Given the description of an element on the screen output the (x, y) to click on. 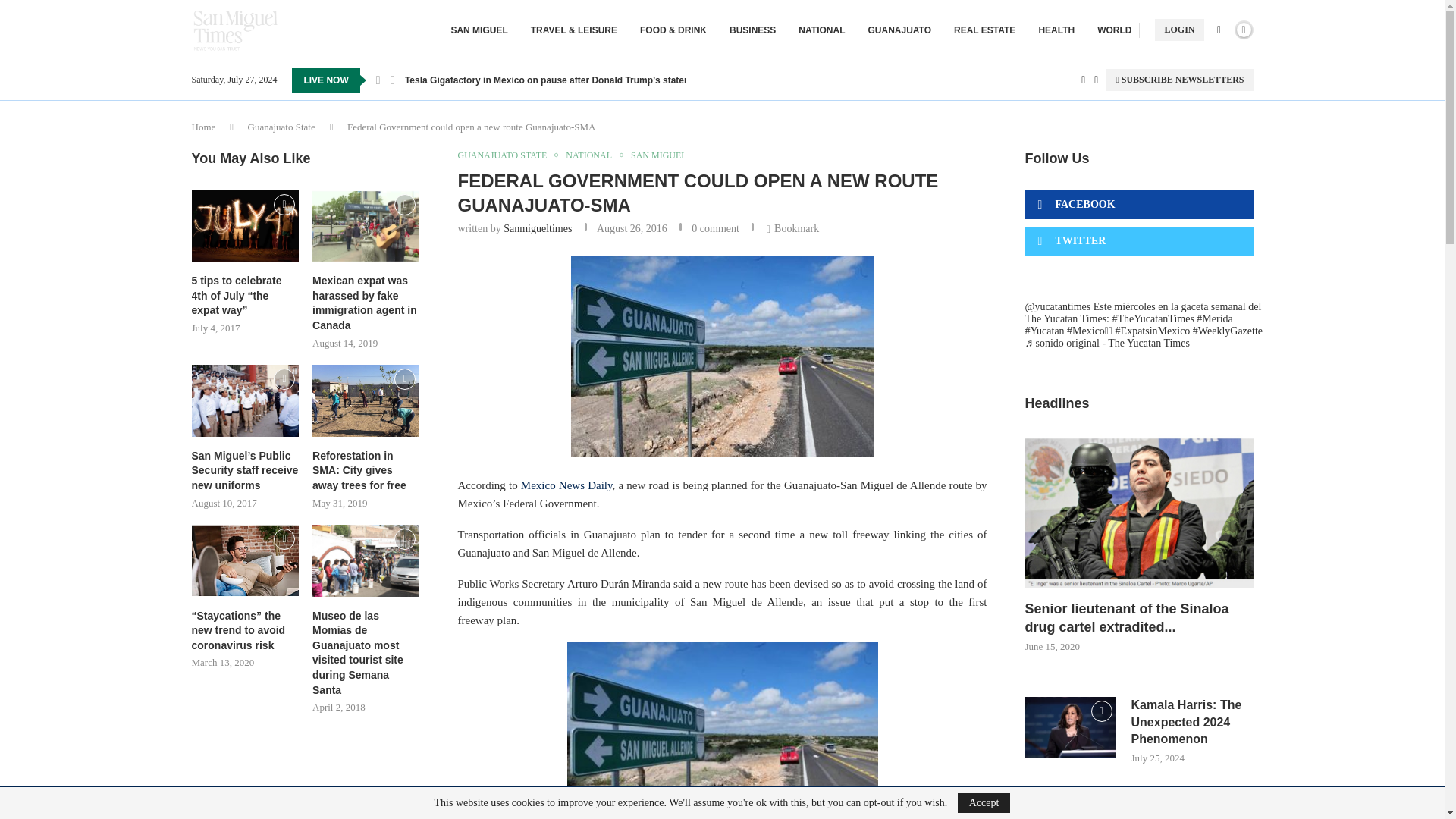
REAL ESTATE (983, 30)
LOGIN (1179, 29)
NATIONAL (820, 30)
BUSINESS (752, 30)
highway-sma (721, 355)
SAN MIGUEL (477, 30)
GUANAJUATO (899, 30)
